Given the description of an element on the screen output the (x, y) to click on. 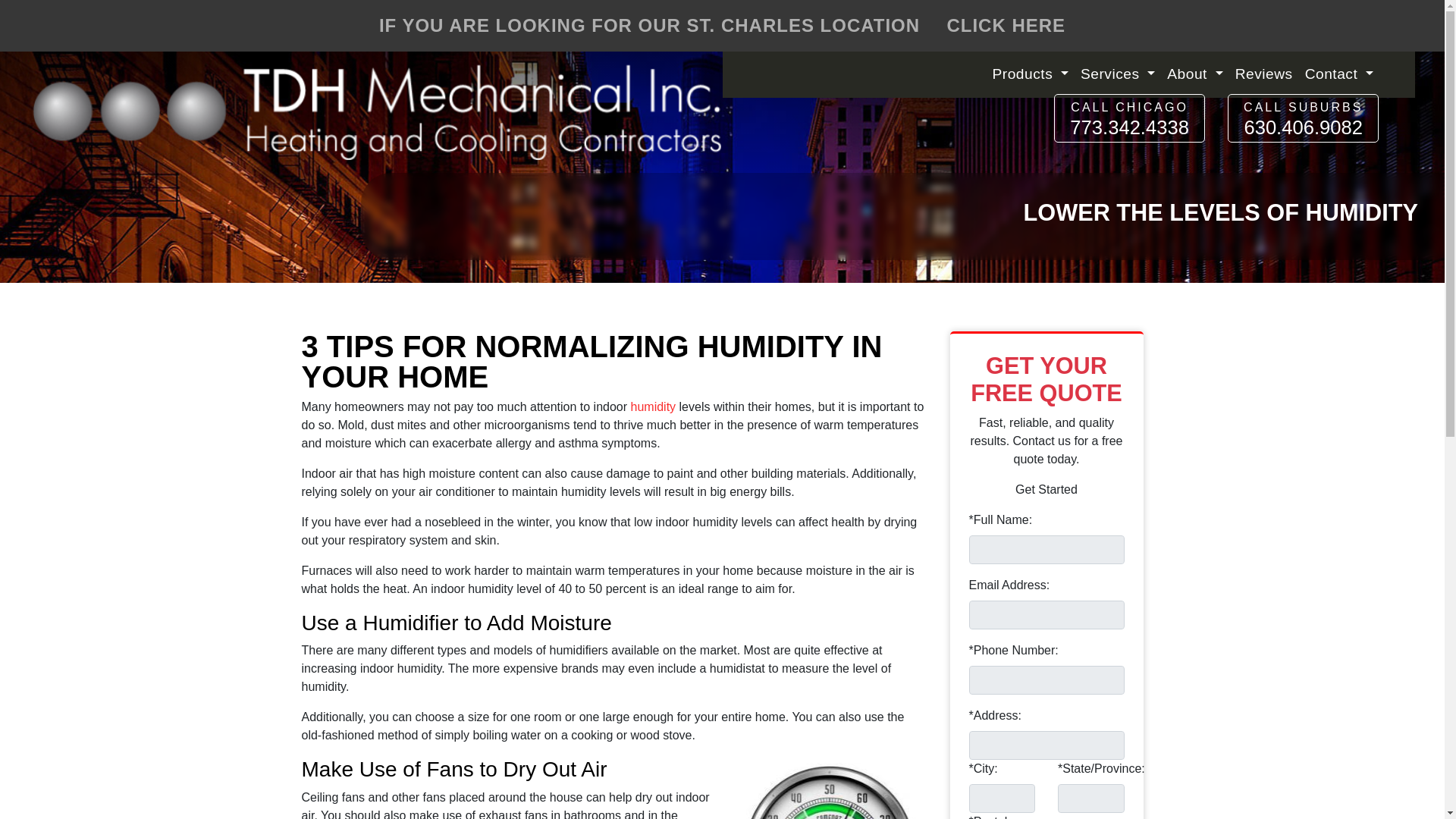
Services (1117, 74)
Products (1029, 74)
CLICK HERE (1002, 25)
